Given the description of an element on the screen output the (x, y) to click on. 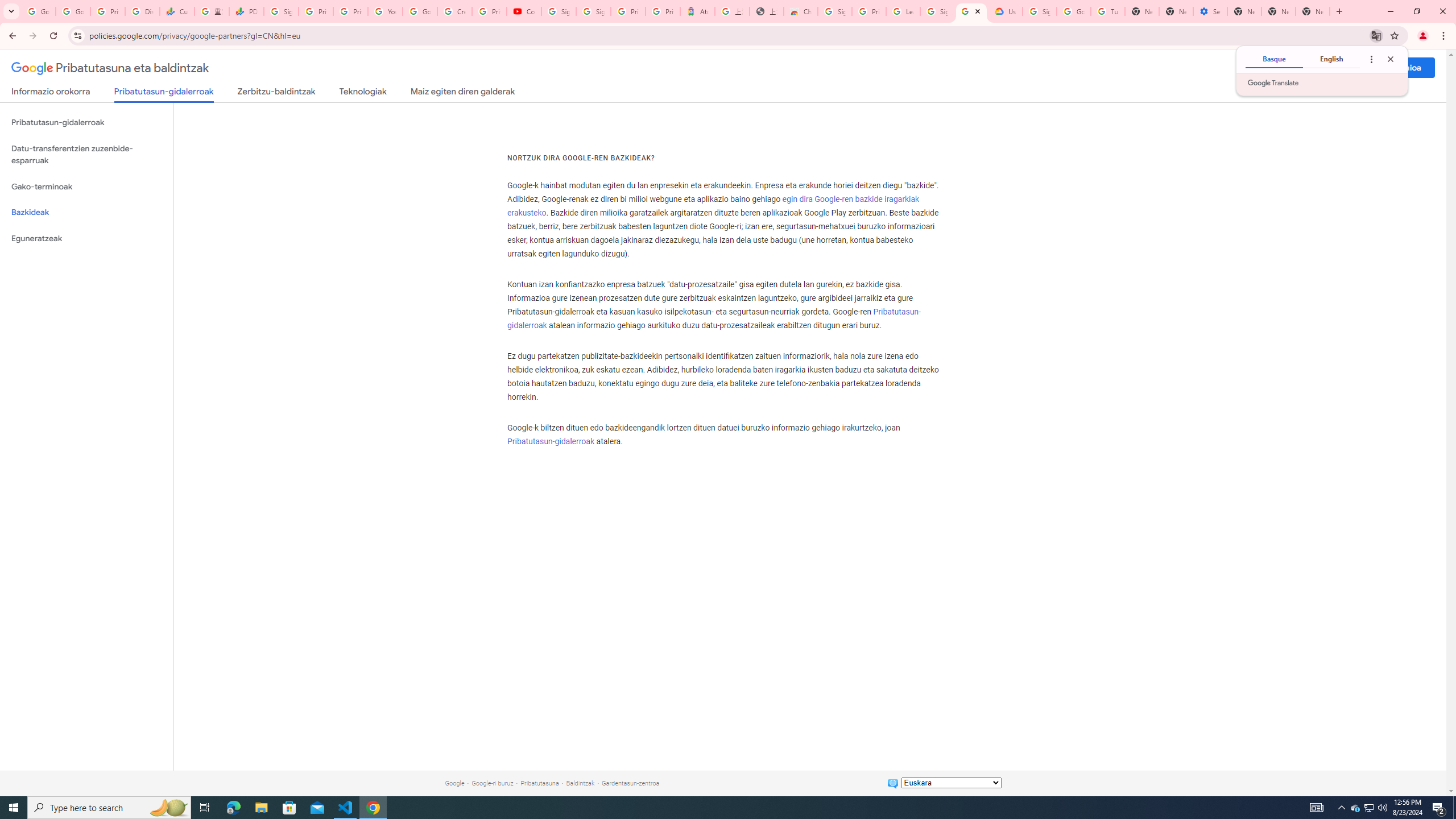
Turn cookies on or off - Computer - Google Account Help (1107, 11)
Zerbitzu-baldintzak (276, 93)
Sign in - Google Accounts (592, 11)
Gardentasun-zentroa (630, 783)
Google-ri buruz (492, 783)
PDD Holdings Inc - ADR (PDD) Price & News - Google Finance (246, 11)
Hasi saioa (1401, 67)
Basque (1273, 58)
